Given the description of an element on the screen output the (x, y) to click on. 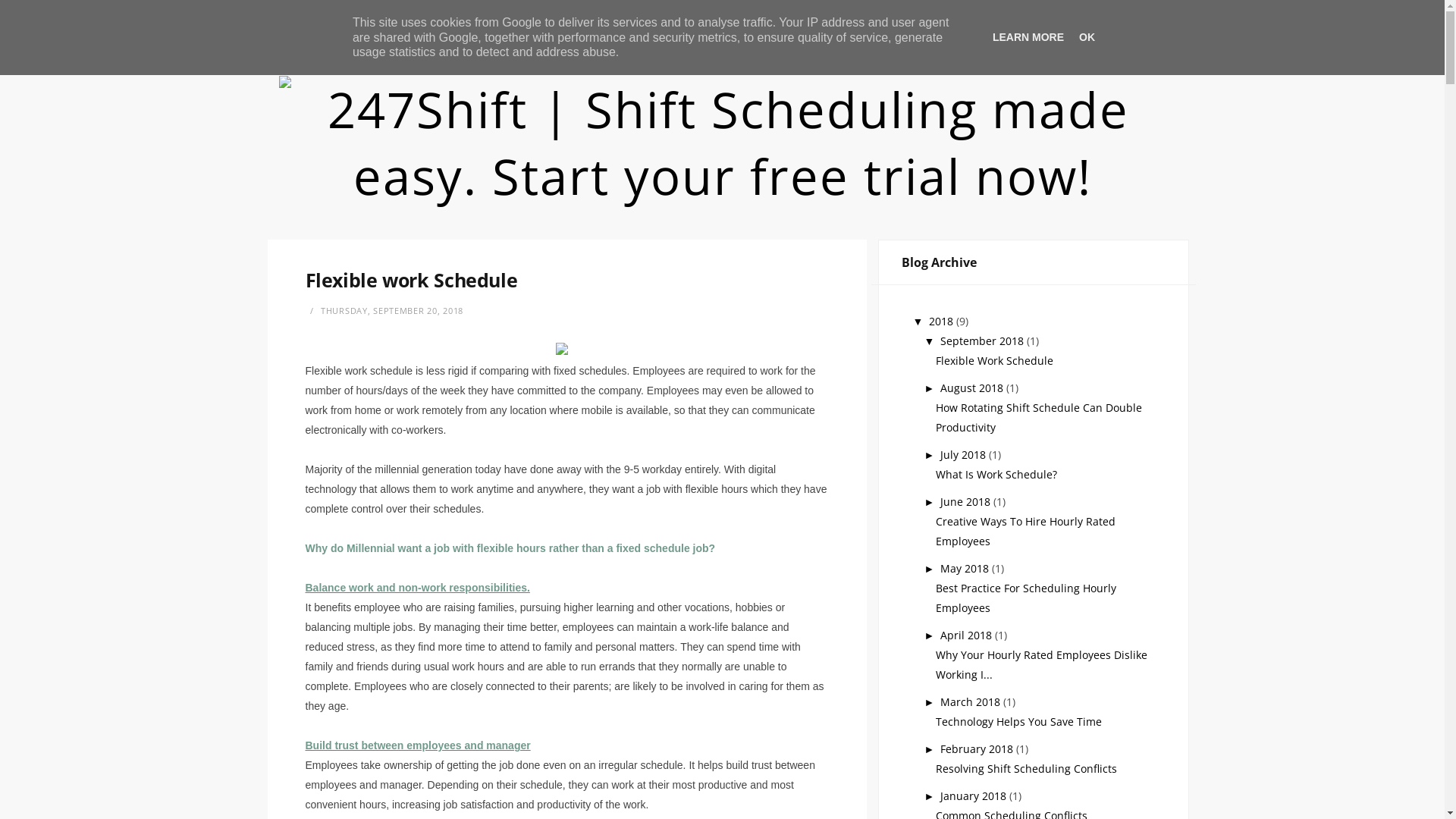
HOME Element type: text (305, 19)
Creative Ways To Hire Hourly Rated Employees Element type: text (1025, 531)
What Is Work Schedule? Element type: text (996, 474)
OK Element type: text (1086, 37)
March 2018 Element type: text (971, 701)
Resolving Shift Scheduling Conflicts Element type: text (1026, 768)
LEARN MORE Element type: text (1028, 37)
April 2018 Element type: text (967, 634)
Best Practice For Scheduling Hourly Employees Element type: text (1025, 597)
247SHIFT.COM Element type: text (450, 19)
How Rotating Shift Schedule Can Double Productivity Element type: text (1038, 417)
September 2018 Element type: text (983, 340)
July 2018 Element type: text (964, 454)
Flexible Work Schedule Element type: text (994, 360)
May 2018 Element type: text (965, 568)
Technology Helps You Save Time Element type: text (1018, 721)
January 2018 Element type: text (974, 795)
June 2018 Element type: text (966, 501)
CONTACT Element type: text (369, 19)
Why Your Hourly Rated Employees Dislike Working I... Element type: text (1041, 664)
February 2018 Element type: text (978, 748)
August 2018 Element type: text (973, 387)
2018 Element type: text (942, 320)
